Given the description of an element on the screen output the (x, y) to click on. 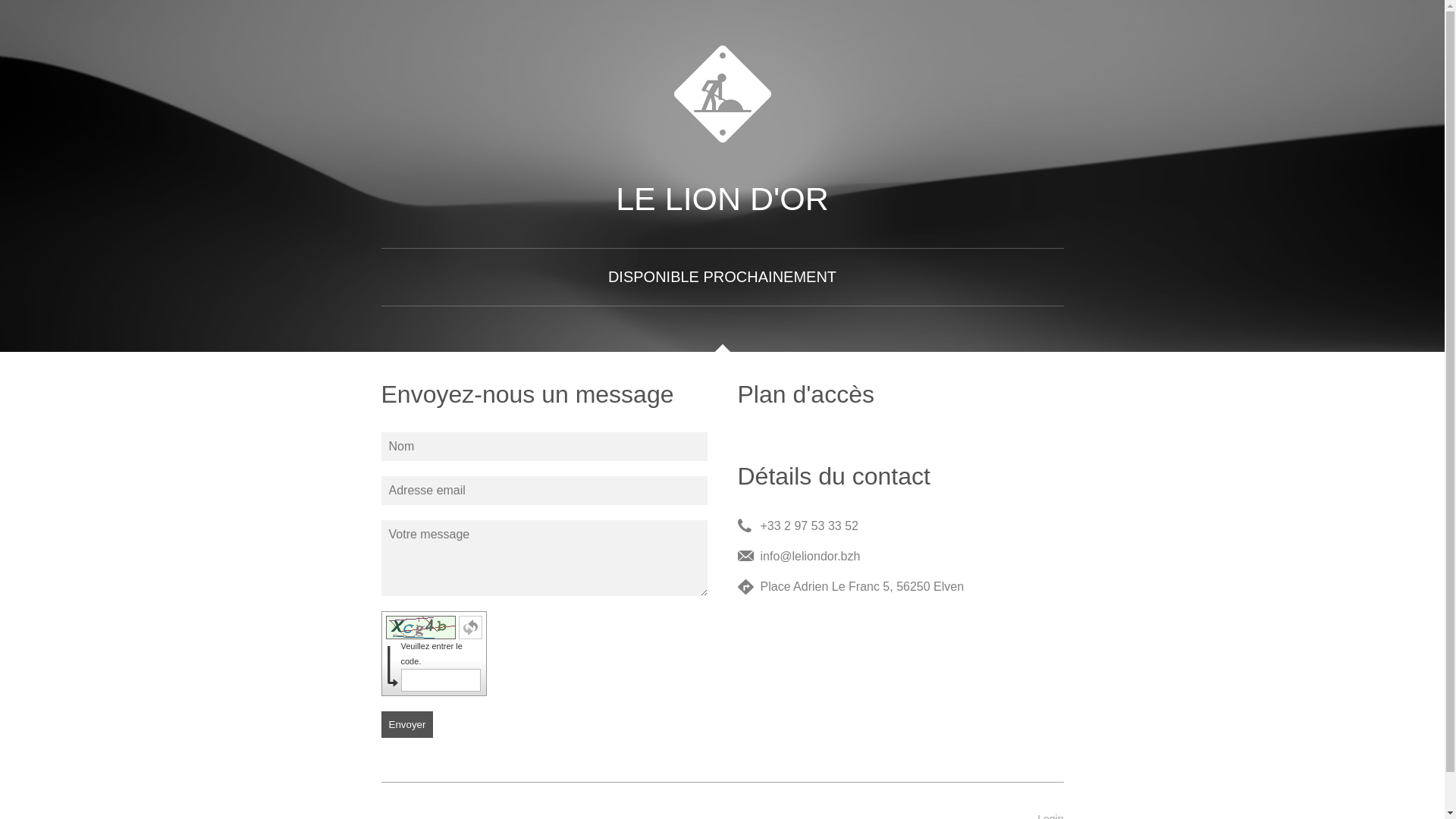
Envoyer Element type: text (406, 724)
